Given the description of an element on the screen output the (x, y) to click on. 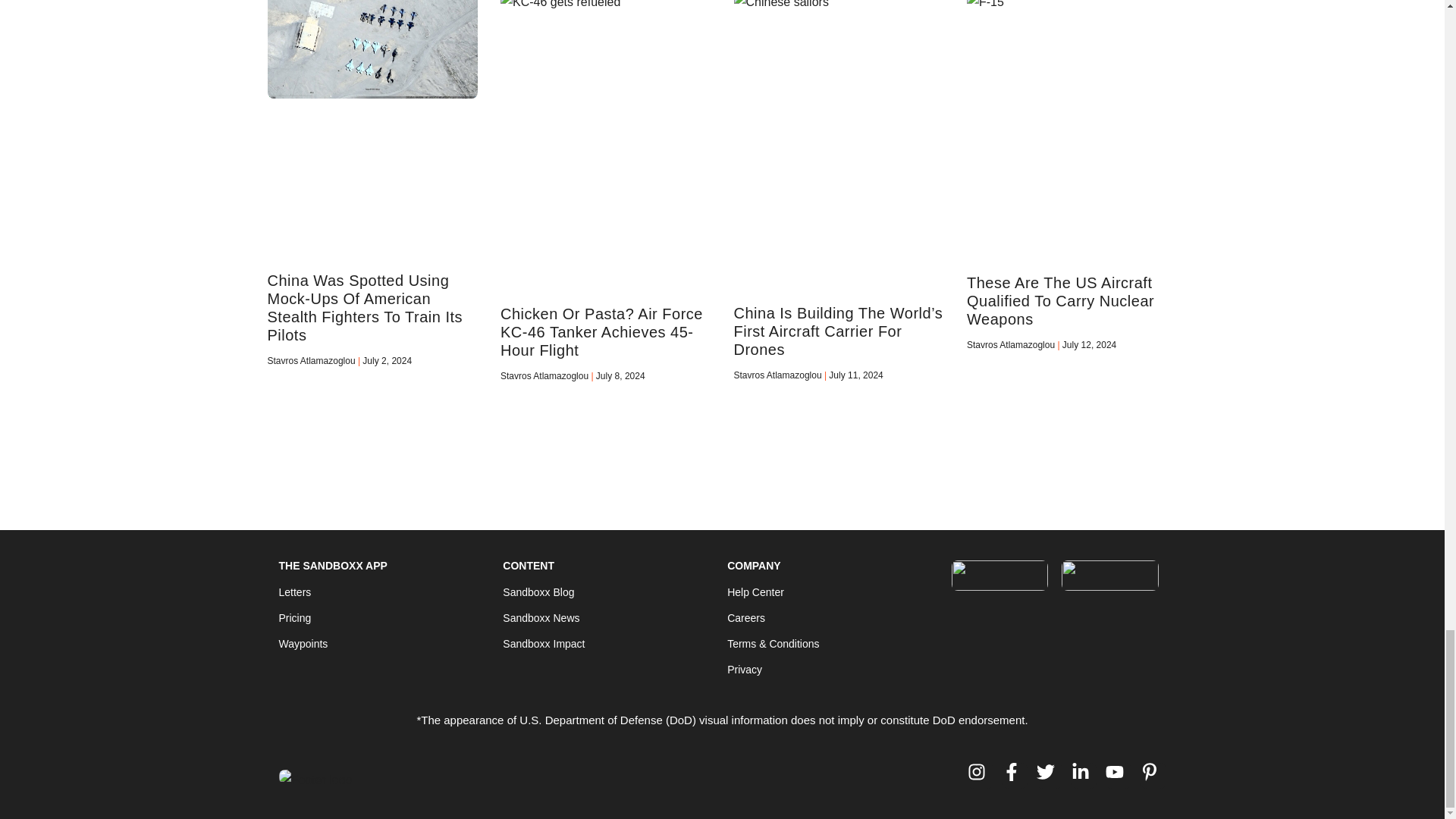
Sandboxx Blog (543, 592)
Pricing (304, 618)
These Are The US Aircraft Qualified To Carry Nuclear Weapons (1060, 300)
Letters (304, 592)
Waypoints (304, 643)
